Given the description of an element on the screen output the (x, y) to click on. 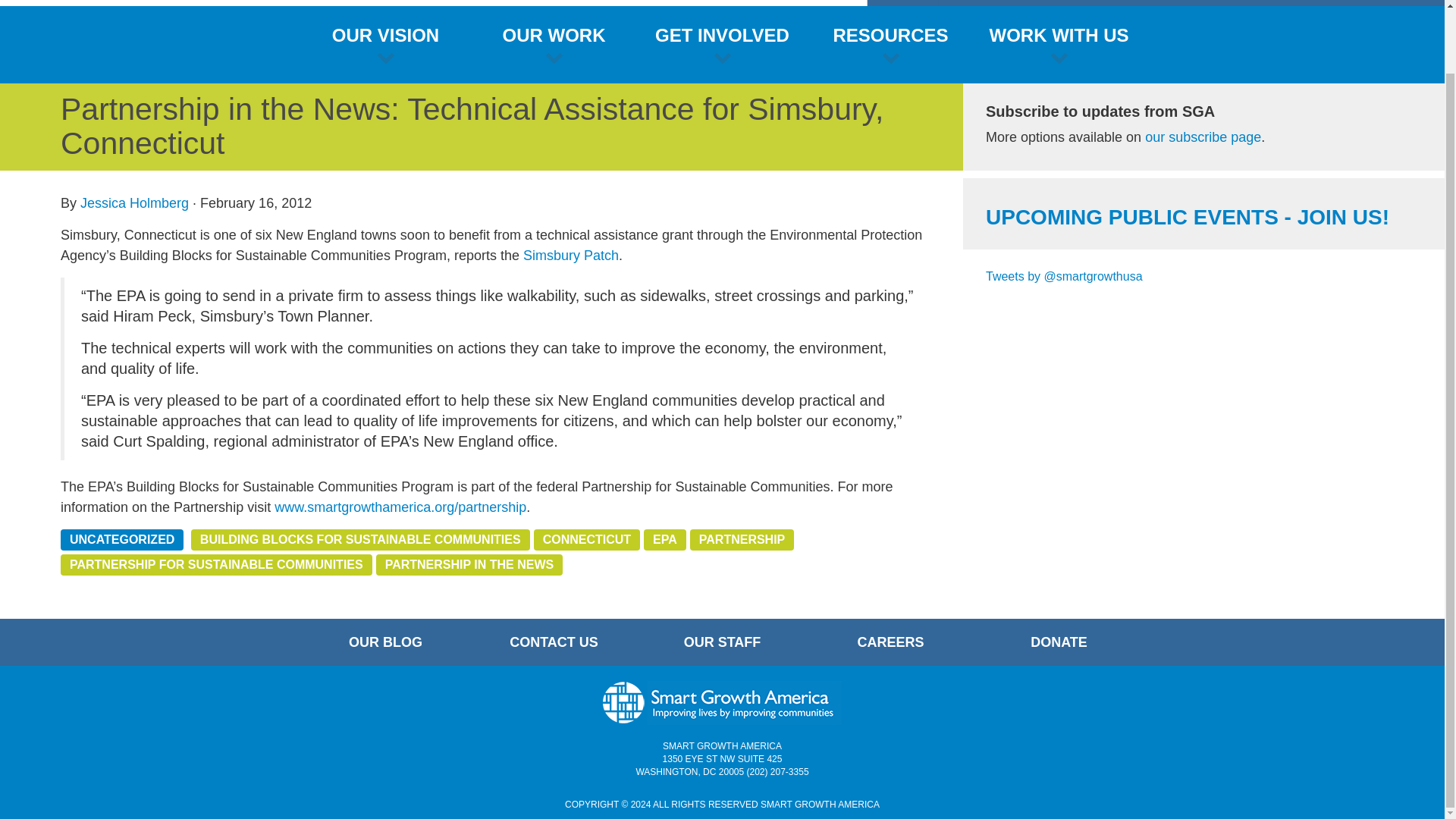
Jessica Holmberg (134, 202)
UNCATEGORIZED (122, 539)
EPA (664, 539)
GET INVOLVED (722, 44)
our subscribe page (1202, 136)
OUR WORK (554, 44)
PARTNERSHIP FOR SUSTAINABLE COMMUNITIES (216, 564)
RESOURCES (890, 44)
OUR VISION (385, 44)
CONNECTICUT (587, 539)
PARTNERSHIP IN THE NEWS (469, 564)
PARTNERSHIP (742, 539)
WORK WITH US (1058, 44)
SEARCH (1410, 2)
Simsbury Patch (570, 255)
